Given the description of an element on the screen output the (x, y) to click on. 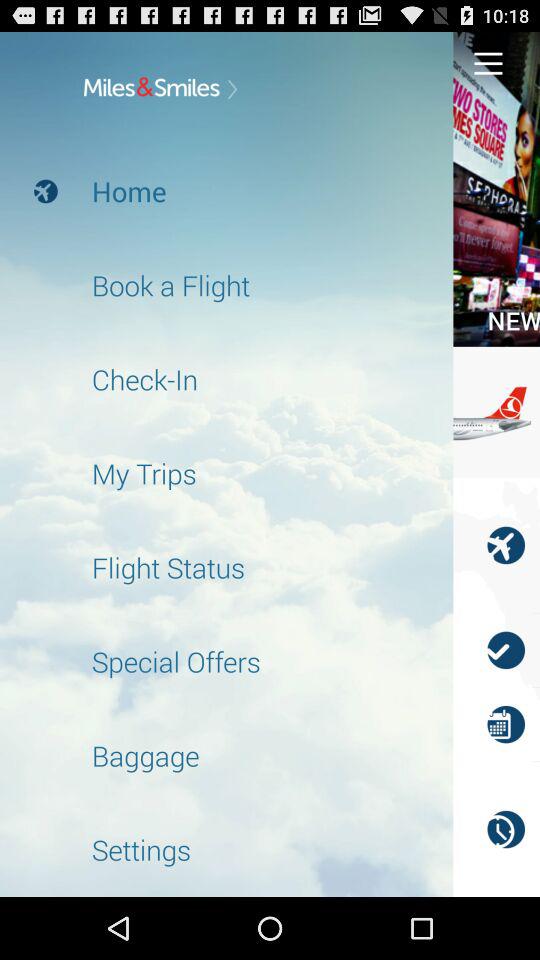
click menu option (488, 62)
